Given the description of an element on the screen output the (x, y) to click on. 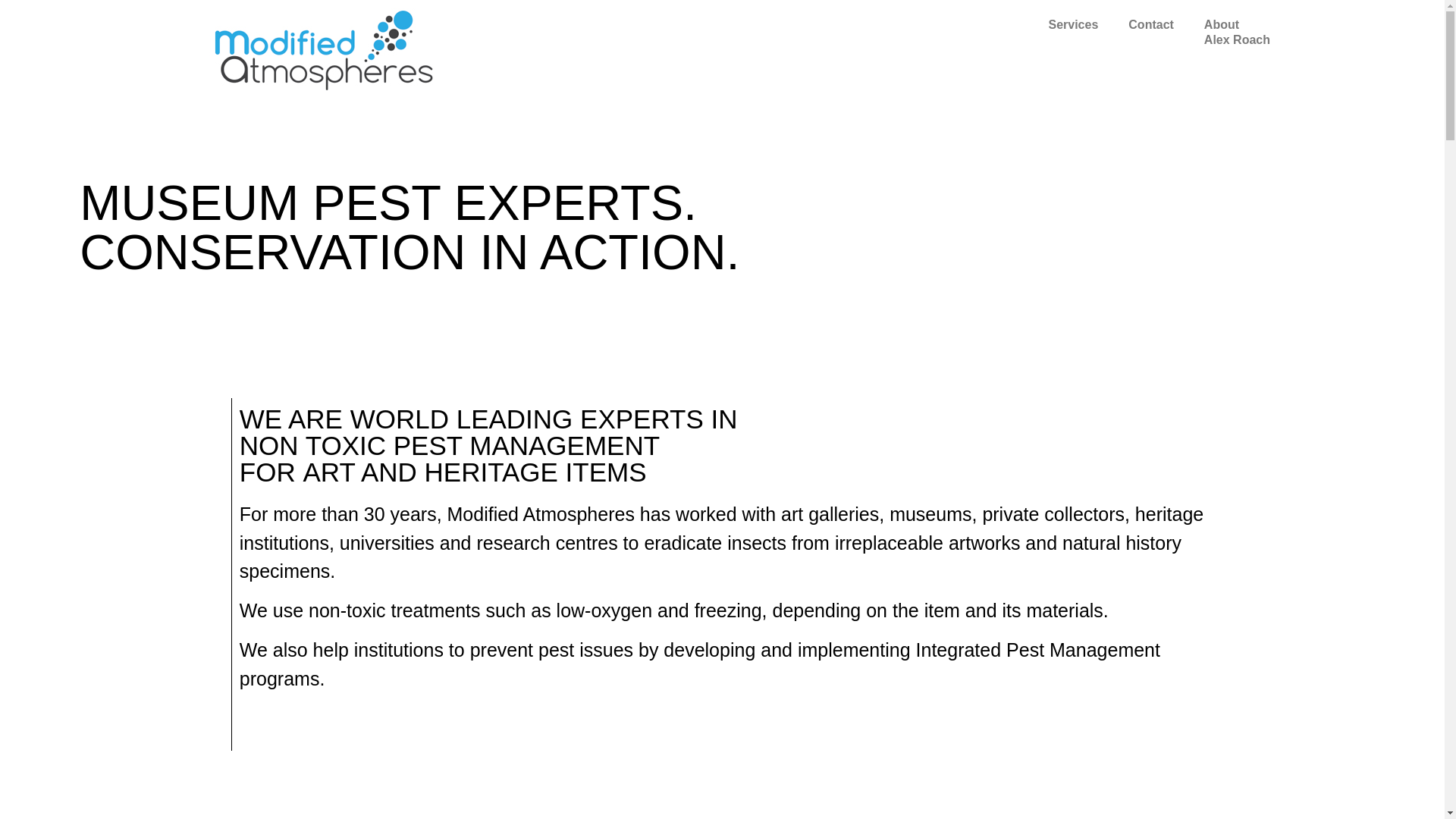
About
Alex Roach Element type: text (1237, 32)
Services Element type: text (1072, 24)
Contact Element type: text (1151, 24)
